Given the description of an element on the screen output the (x, y) to click on. 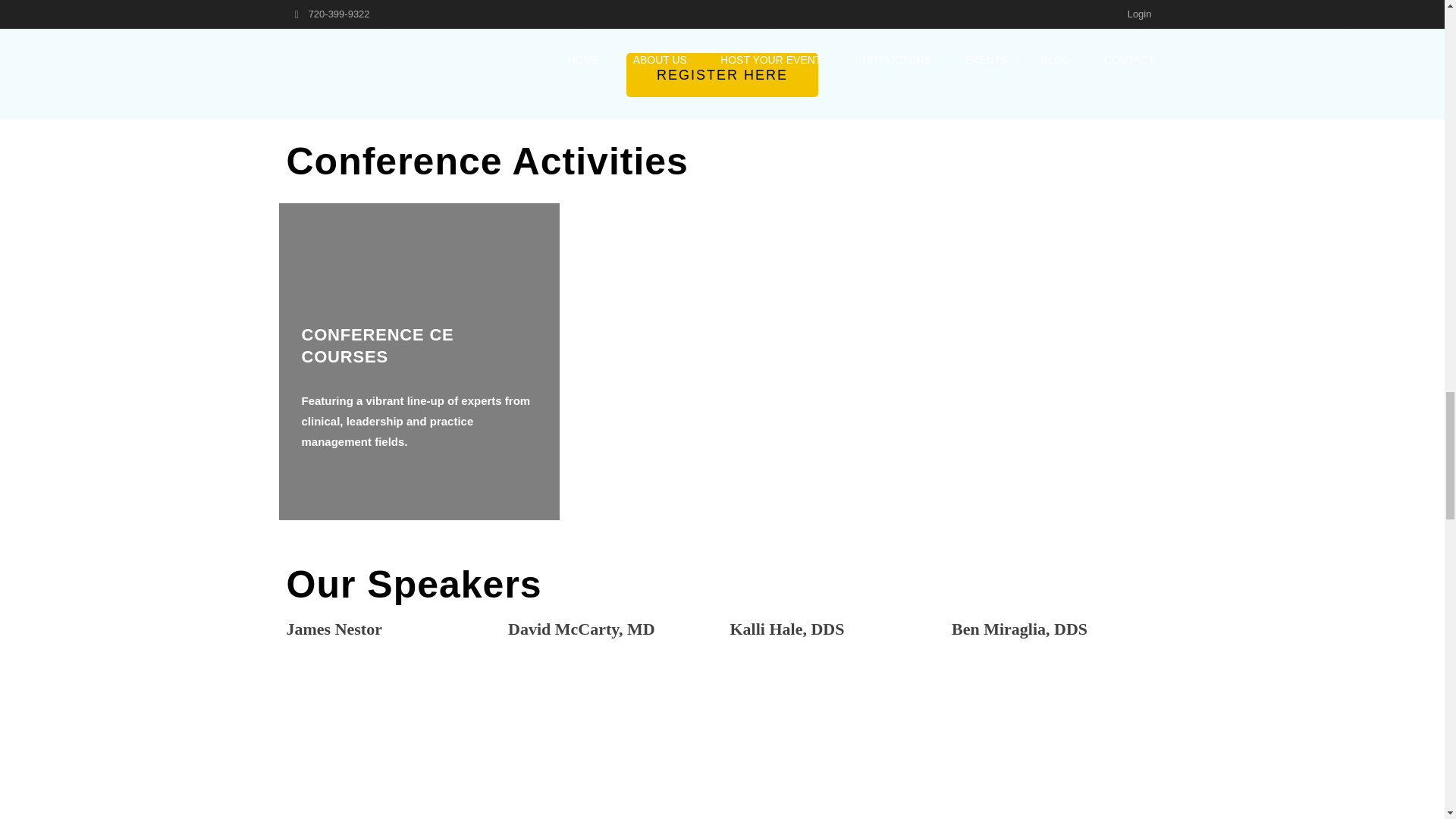
Breathing Wellness Conference 2023 (360, 11)
Breathing Wellness Conference 2023 (611, 741)
REGISTER HERE (722, 75)
Breathing Wellness Conference 2023 (832, 741)
Breathing Wellness Conference 2023 (389, 741)
